Given the description of an element on the screen output the (x, y) to click on. 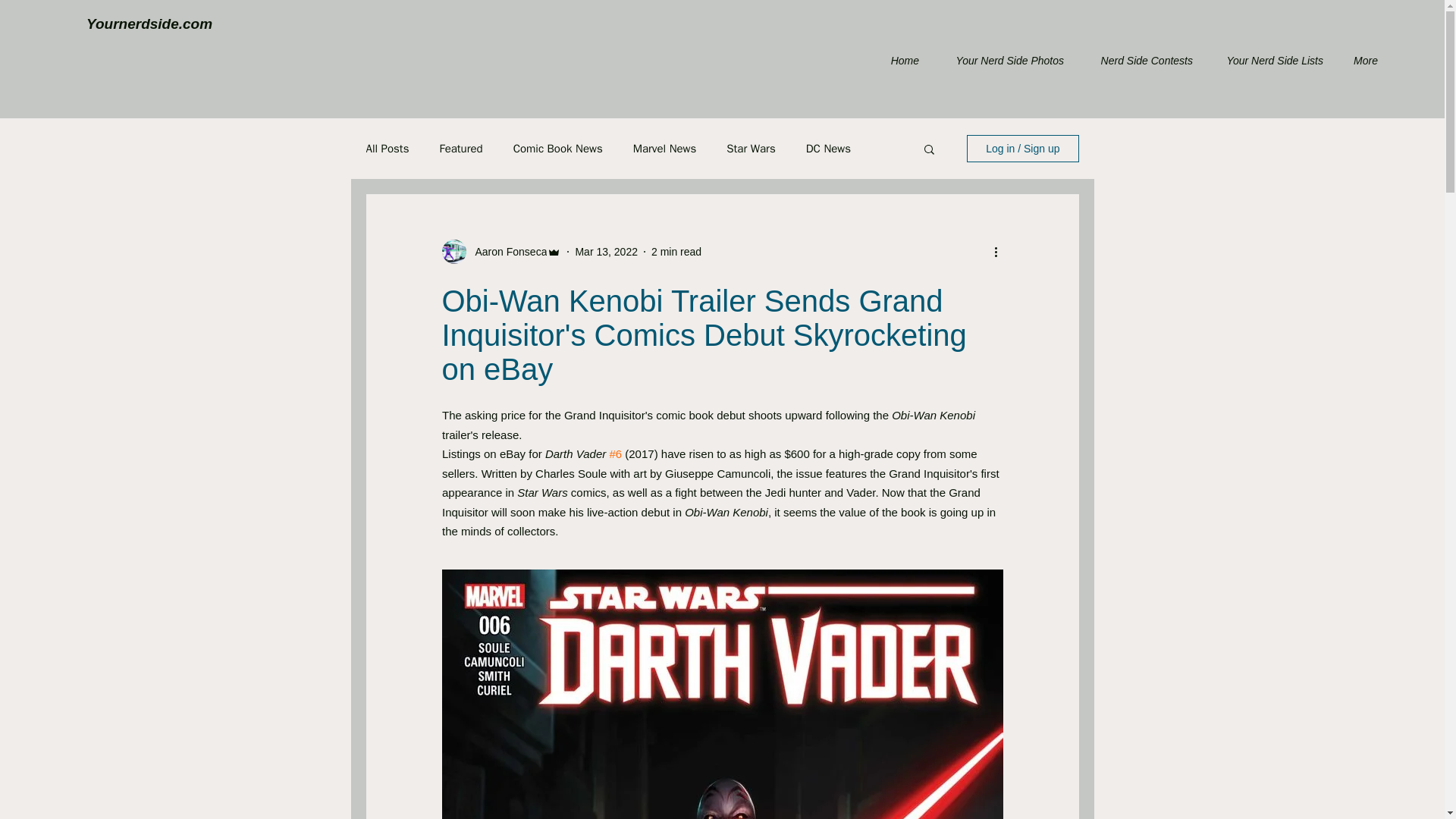
Comic Book News (557, 147)
Featured (460, 147)
Aaron  Fonseca (506, 252)
Yournerdside.com (148, 23)
All Posts (387, 147)
Nerd Side Contests (1139, 60)
Mar 13, 2022 (606, 251)
Marvel News (665, 147)
Your Nerd Side Photos (1002, 60)
DC News (828, 147)
Star Wars (750, 147)
2 min read (675, 251)
Your Nerd Side Lists (1269, 60)
